Given the description of an element on the screen output the (x, y) to click on. 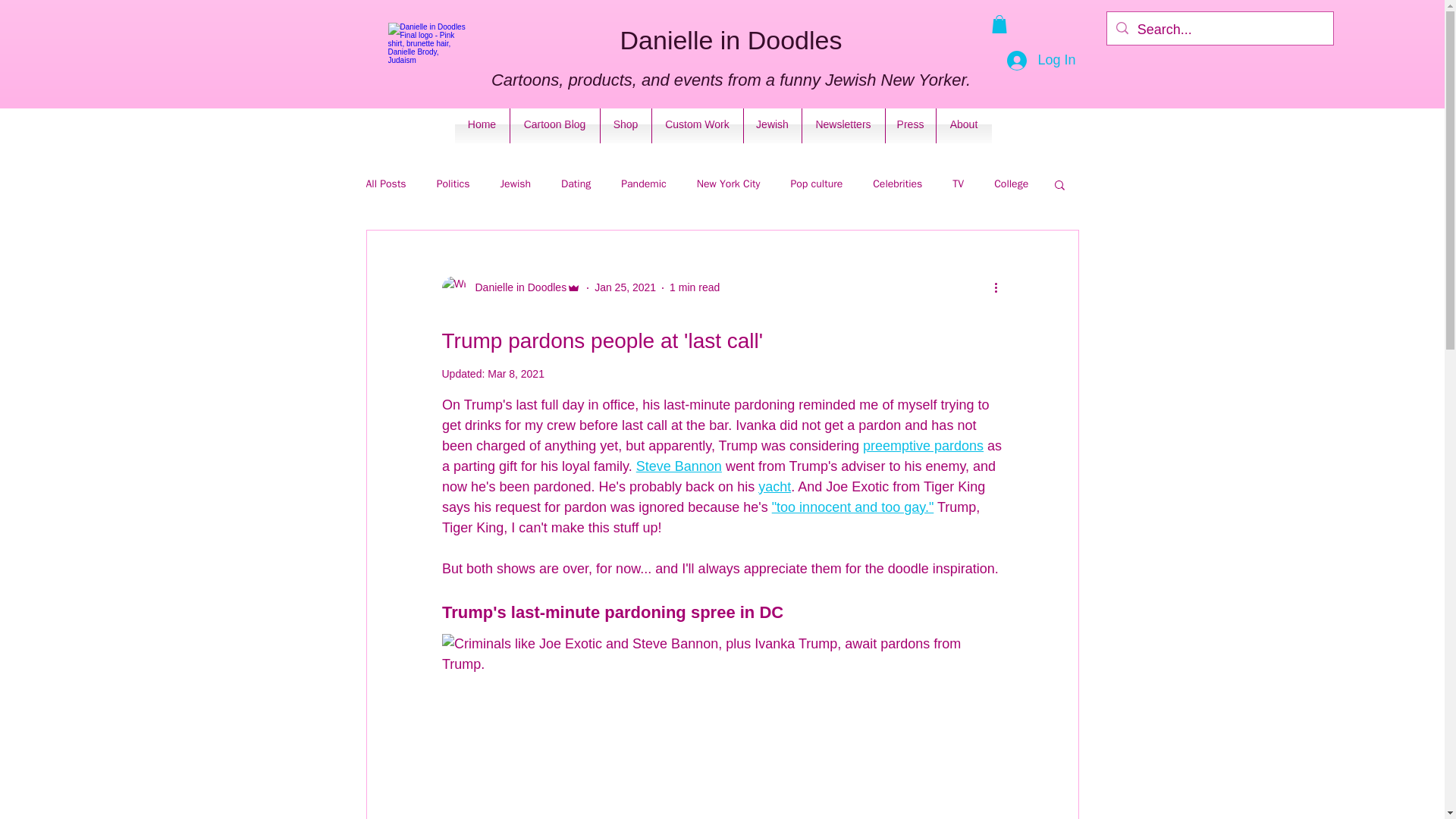
Mar 8, 2021 (515, 373)
Danielle in Doodles (515, 287)
Jewish (515, 183)
All Posts (385, 183)
Press (910, 124)
Politics (453, 183)
About (963, 124)
Log In (1040, 60)
College (1010, 183)
Dating (575, 183)
